Given the description of an element on the screen output the (x, y) to click on. 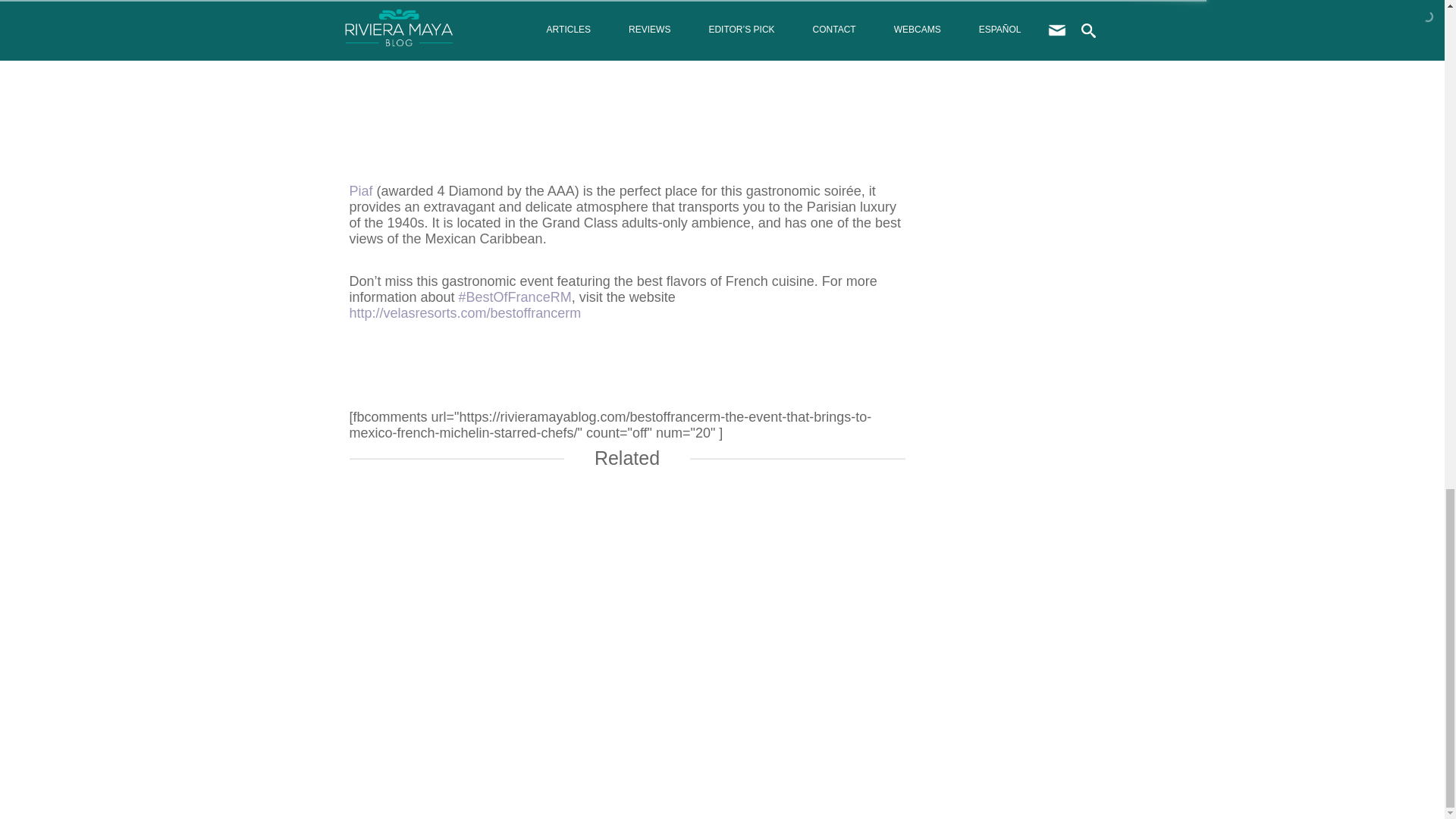
The Best Of France - Grand Velas Riviera Maya (626, 51)
Piaf (360, 191)
